Given the description of an element on the screen output the (x, y) to click on. 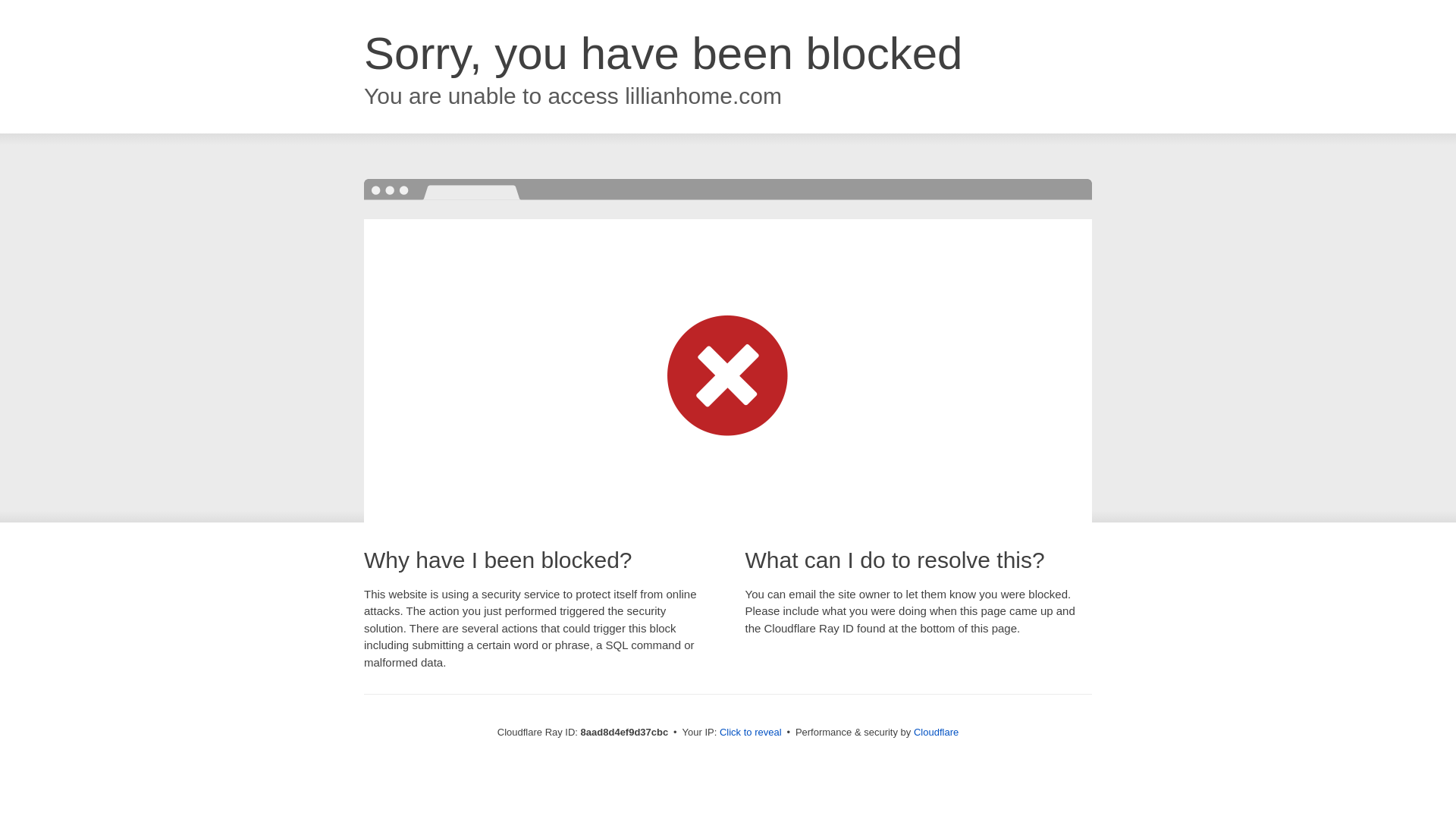
Cloudflare (936, 731)
Click to reveal (750, 732)
